Given the description of an element on the screen output the (x, y) to click on. 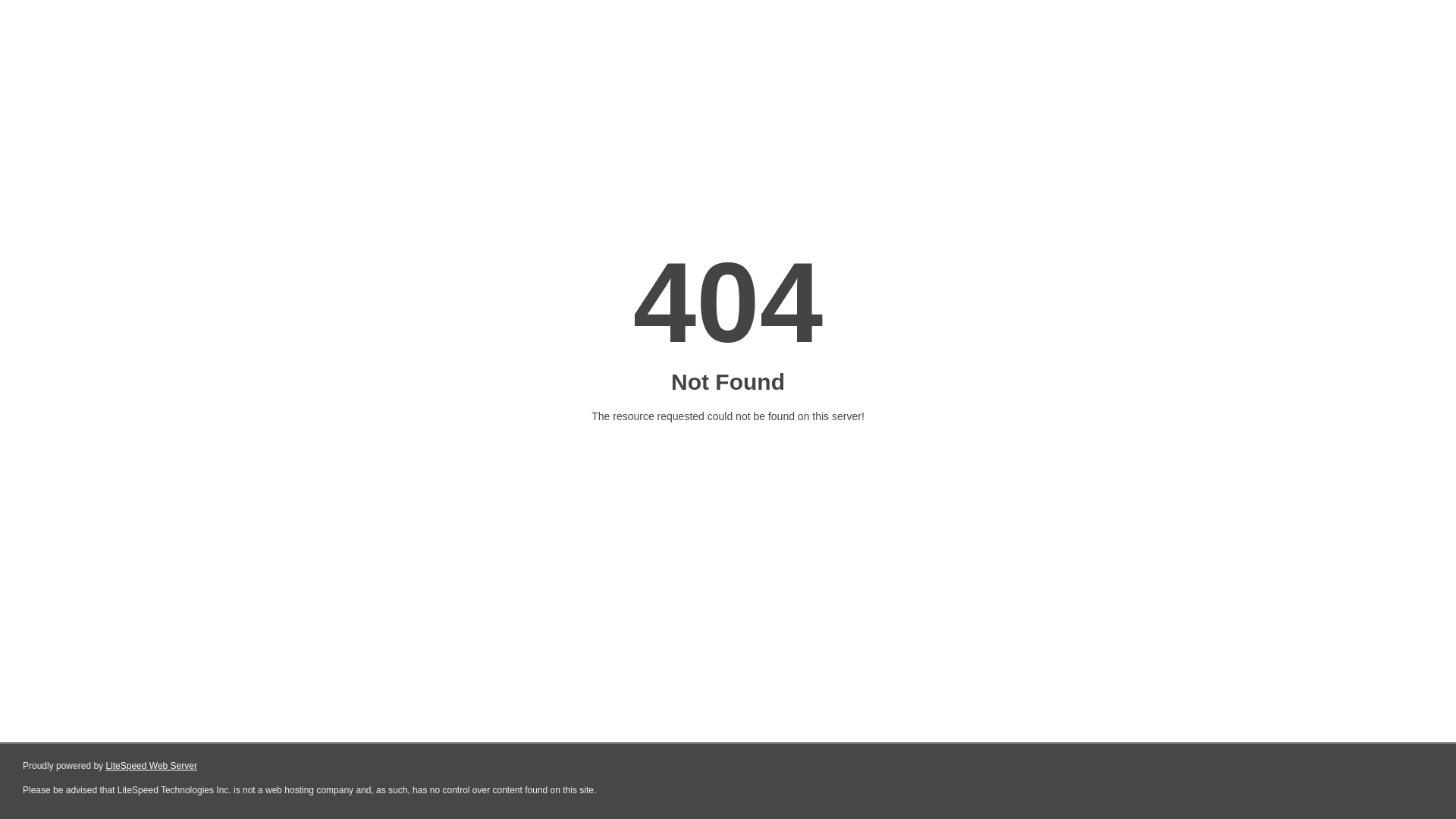
LiteSpeed Web Server Element type: text (151, 765)
